Given the description of an element on the screen output the (x, y) to click on. 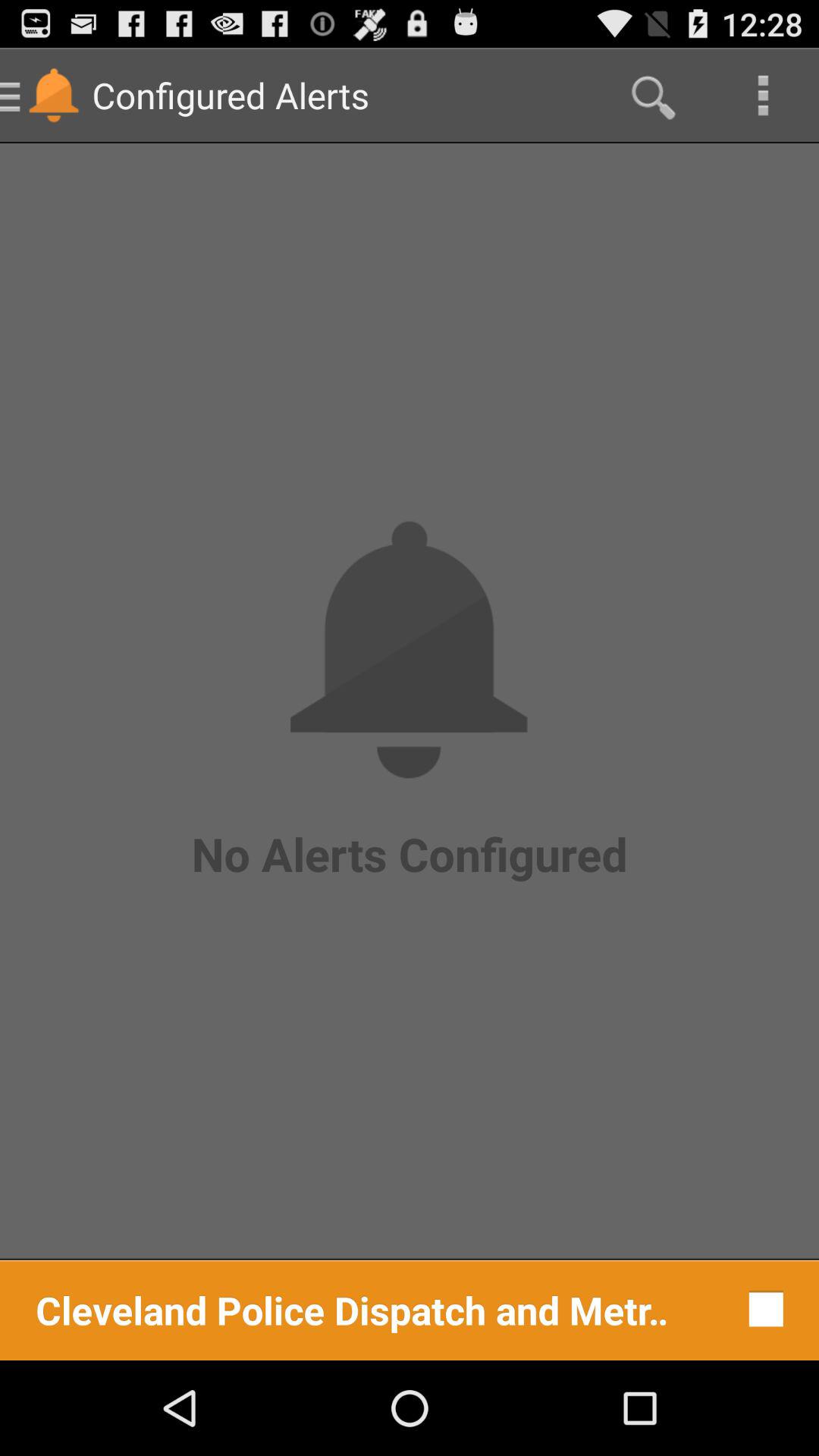
press item above no alerts configured icon (651, 95)
